Given the description of an element on the screen output the (x, y) to click on. 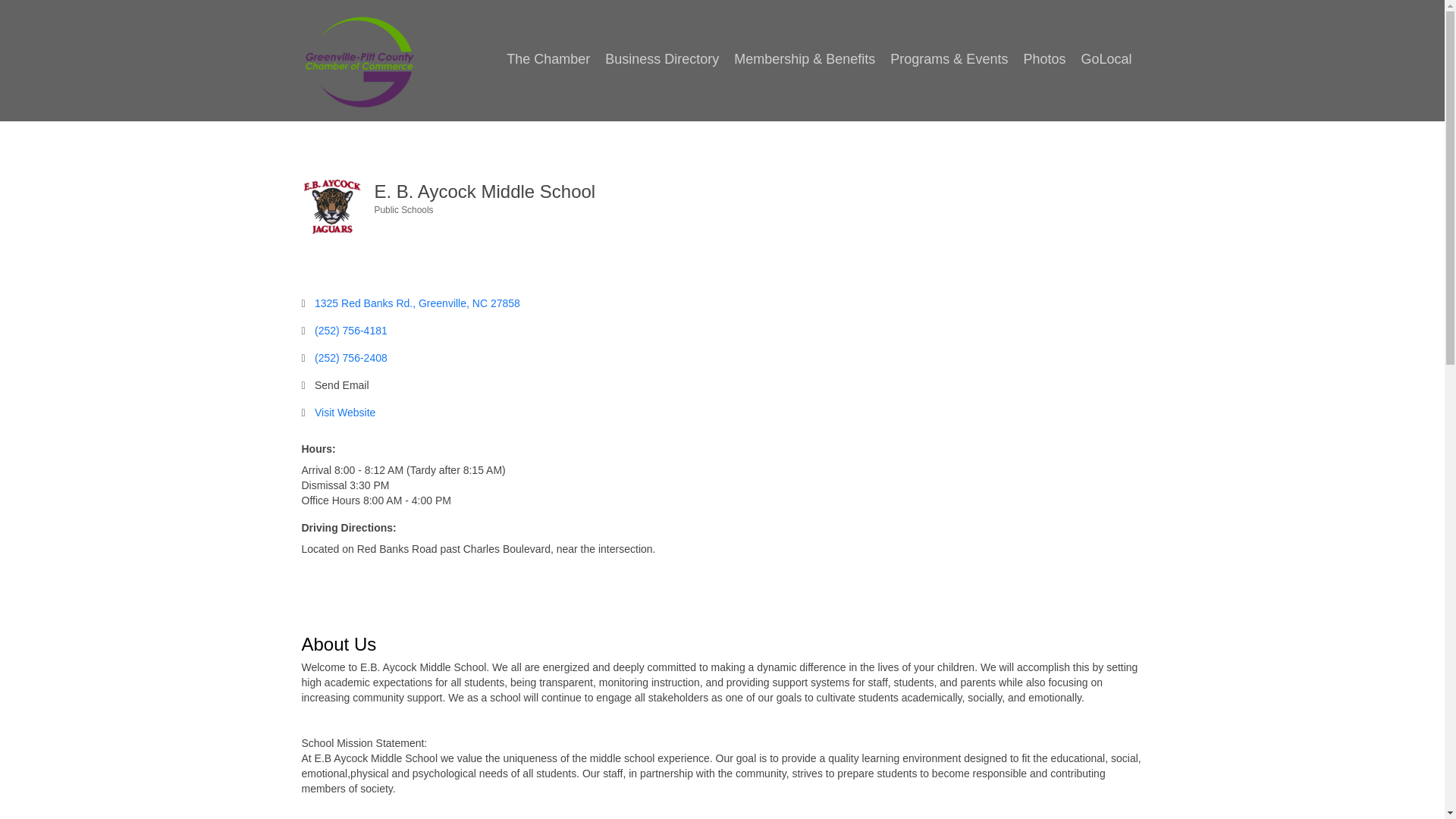
Business Directory (661, 59)
Photos (1043, 59)
E. B. Aycock Middle School (331, 205)
The Chamber (547, 59)
